Given the description of an element on the screen output the (x, y) to click on. 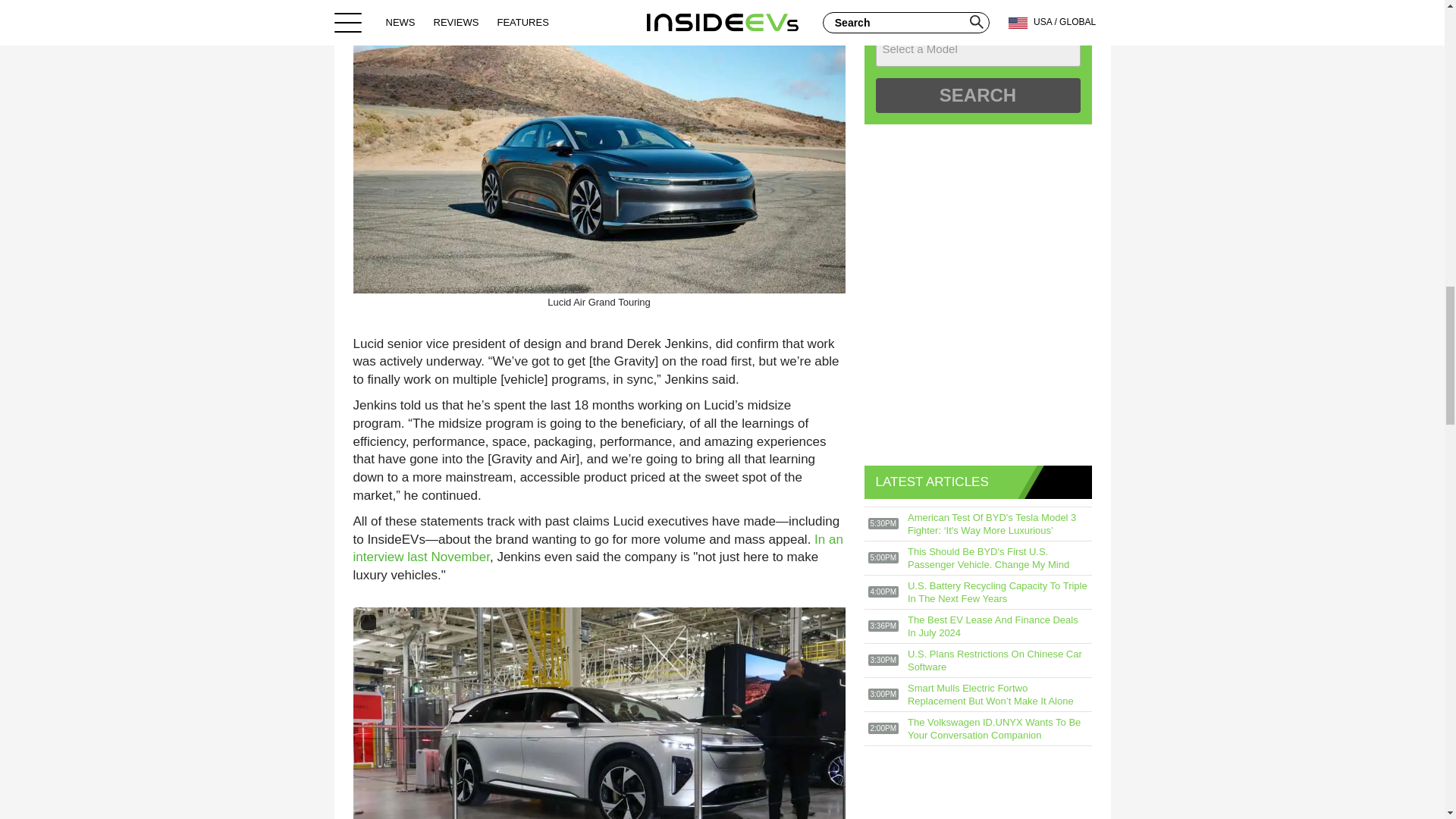
In an interview last November (598, 548)
Search (977, 95)
